Given the description of an element on the screen output the (x, y) to click on. 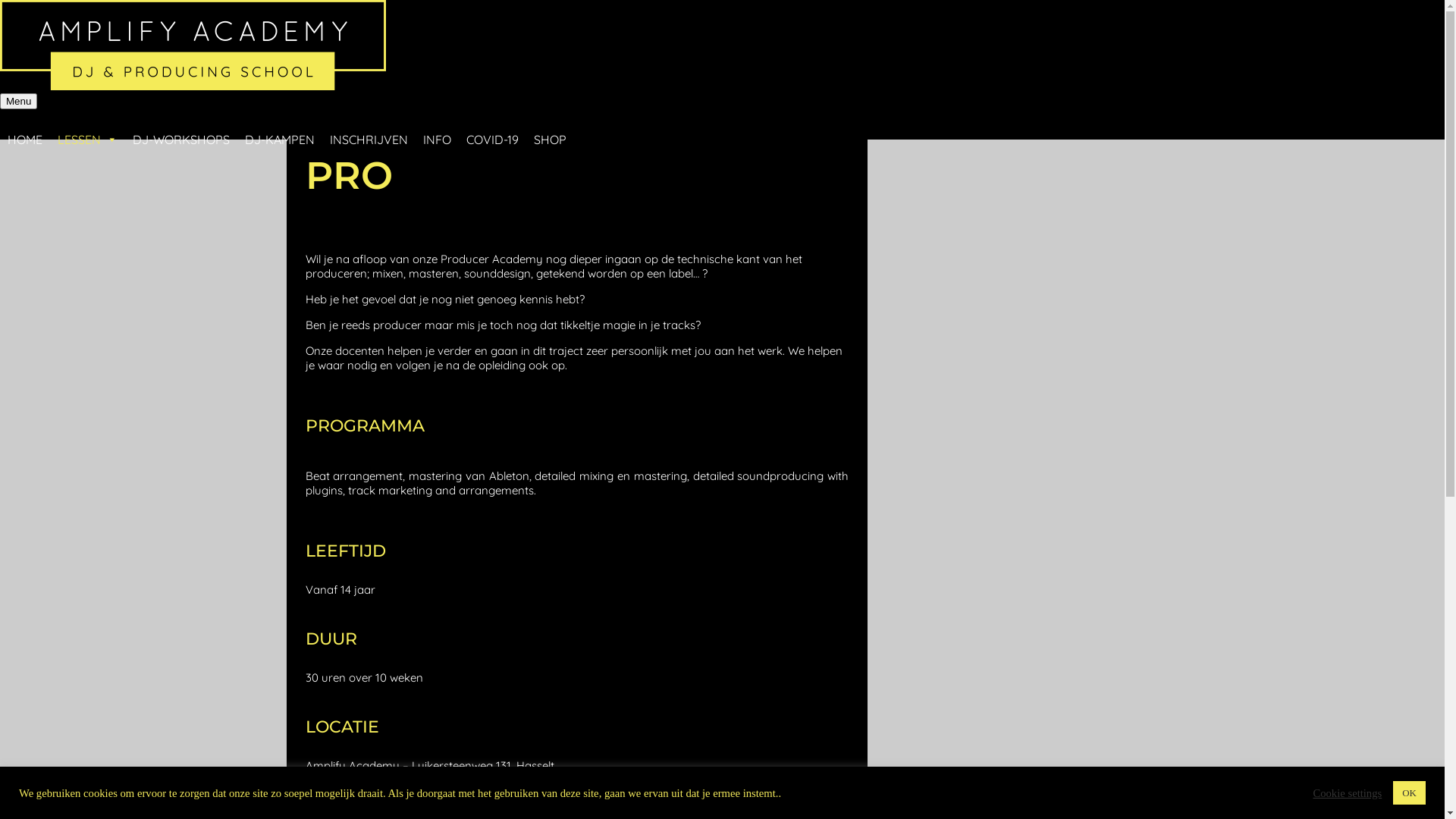
Menu Element type: text (18, 101)
LESSEN Element type: text (87, 124)
HOME Element type: text (25, 124)
INFO Element type: text (436, 124)
DJ-WORKSHOPS Element type: text (181, 124)
INSCHRIJVEN Element type: text (368, 124)
COVID-19 Element type: text (492, 124)
Cookie settings Element type: text (1346, 792)
SHOP Element type: text (550, 124)
DJ-KAMPEN Element type: text (279, 124)
Amplify Academy | DJ, Producer & Artist School Element type: text (120, 111)
OK Element type: text (1409, 792)
